Given the description of an element on the screen output the (x, y) to click on. 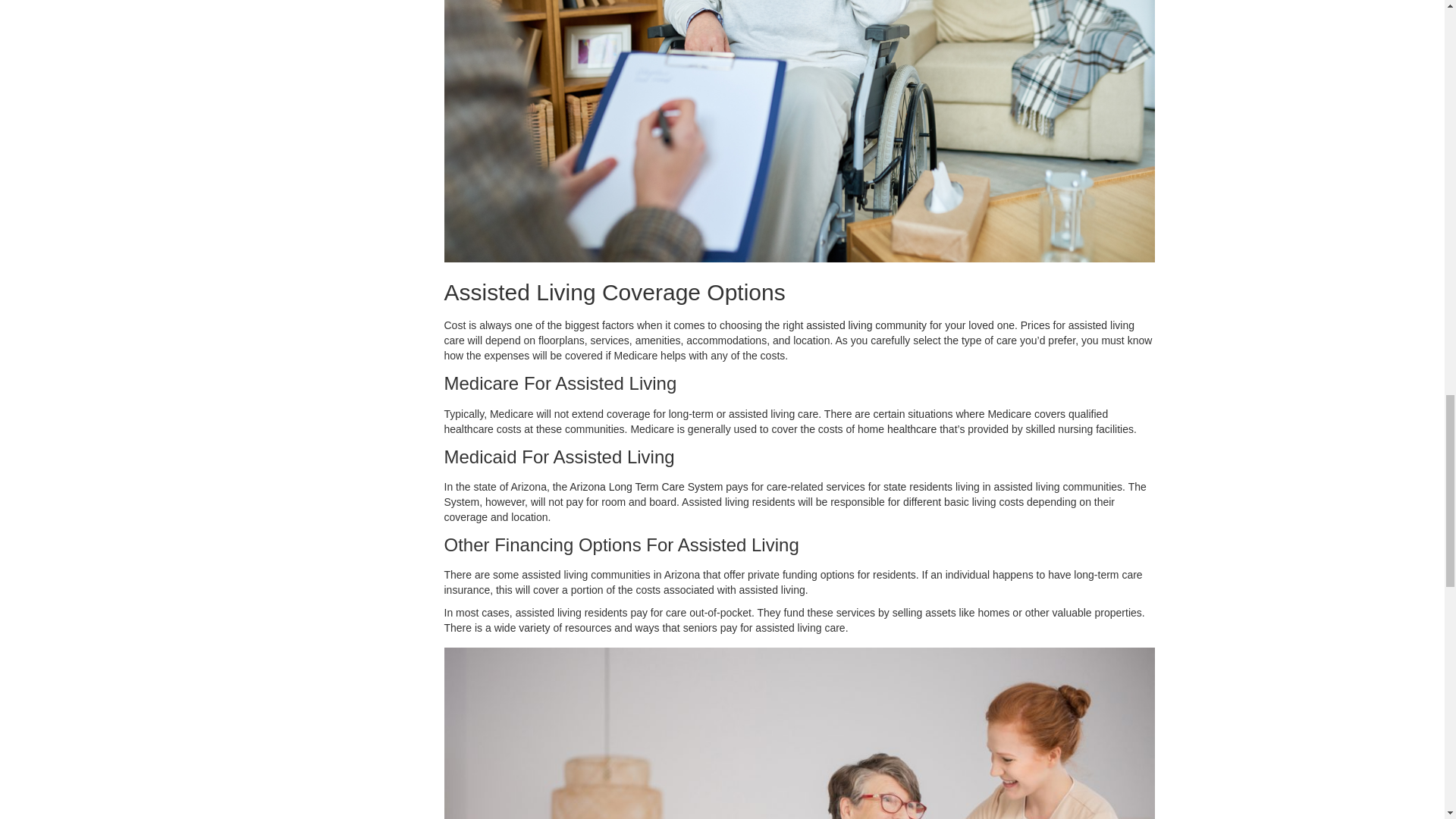
Arizona Long Term Care System (645, 486)
healthcare (911, 428)
assisted living community (866, 325)
